Given the description of an element on the screen output the (x, y) to click on. 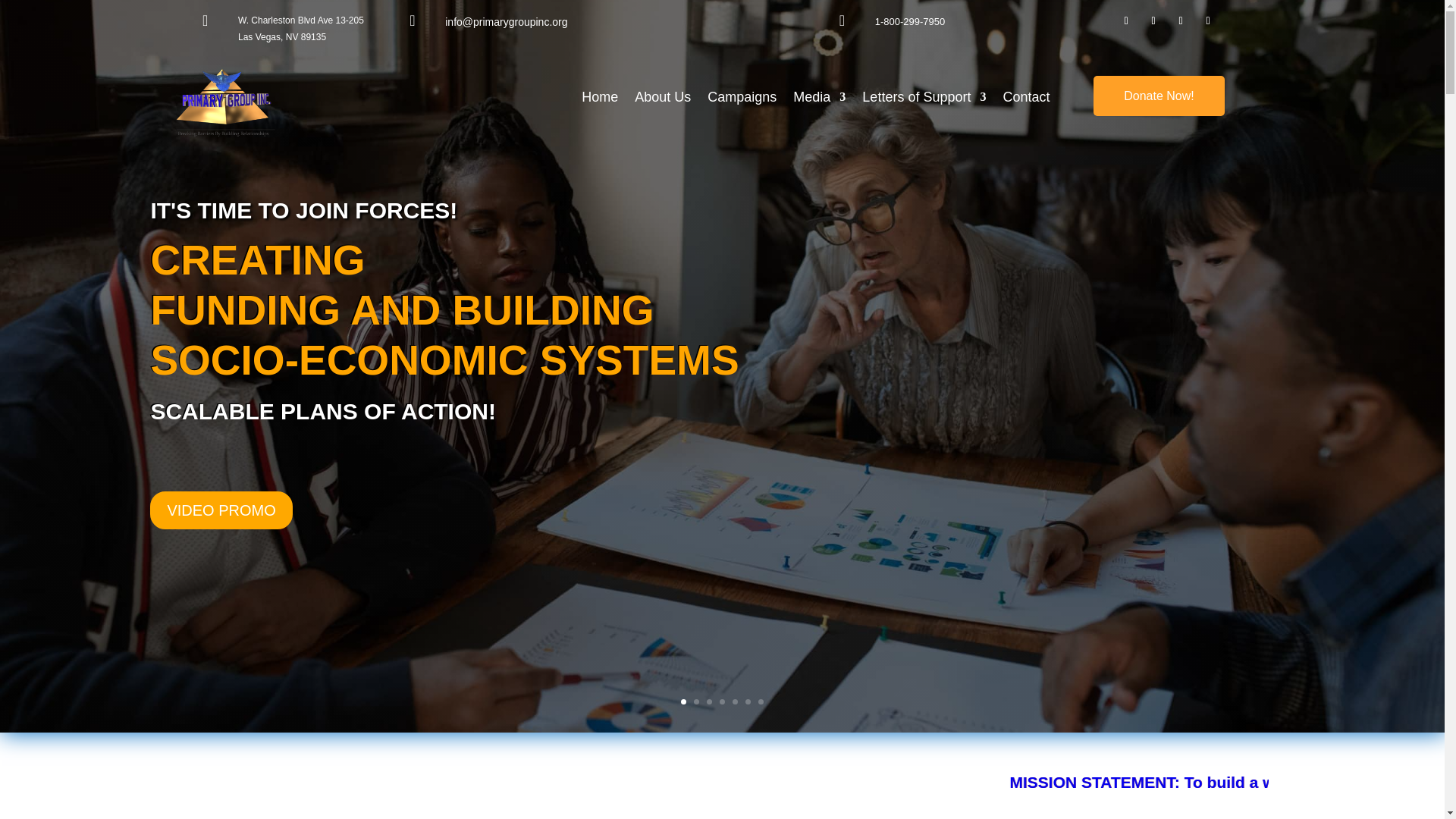
VIDEO PROMO (220, 543)
Follow on LinkedIn (1152, 20)
Follow on Facebook (1126, 20)
Donate Now! (1158, 96)
cropped-Primary-Group-Inc-New-Logo-1.png (225, 103)
About Us (662, 99)
Follow on Instagram (1180, 20)
Contact (1026, 99)
Media (819, 99)
Follow on Twitter (1207, 20)
